Given the description of an element on the screen output the (x, y) to click on. 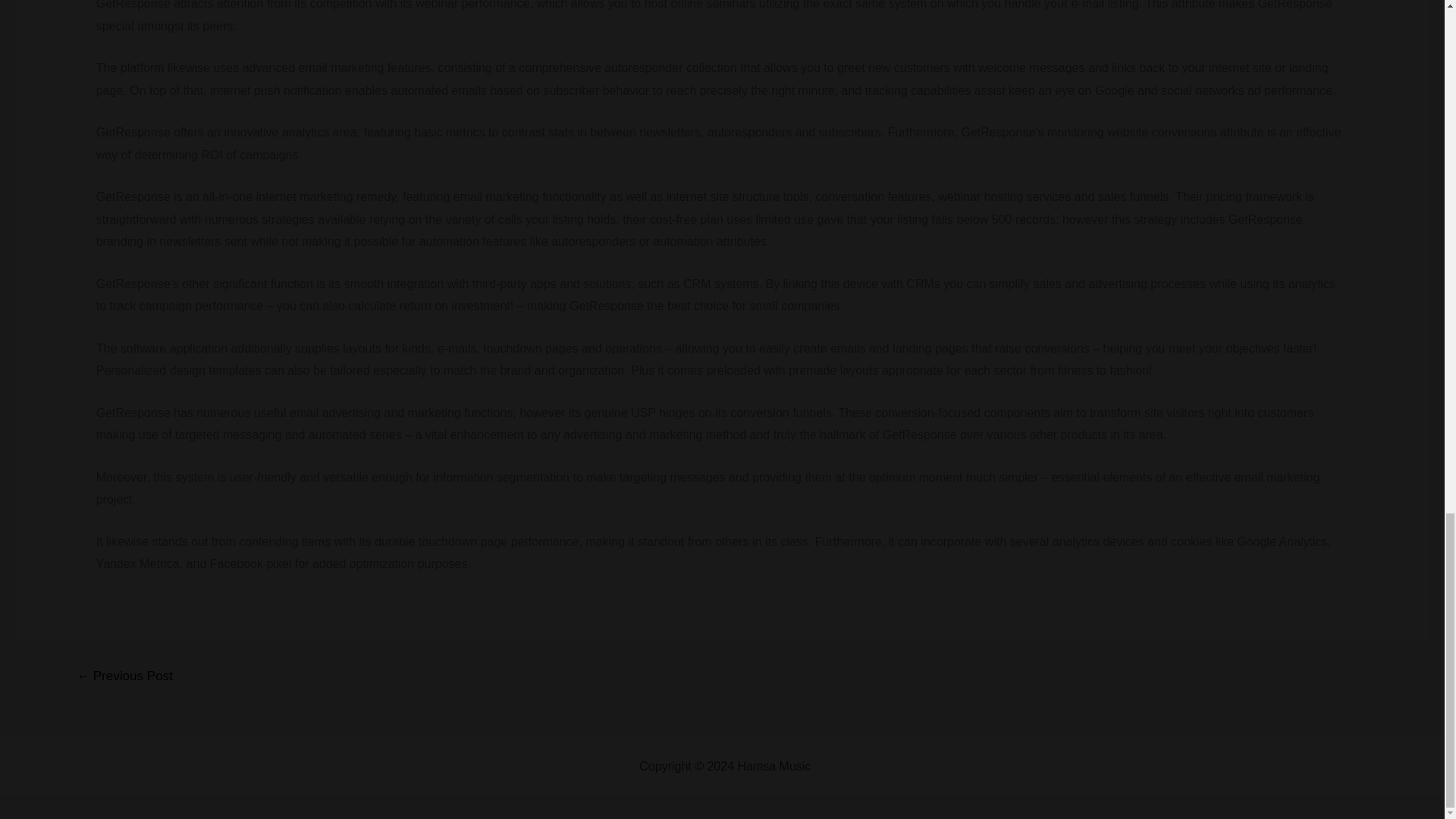
Sitemap (836, 766)
